Given the description of an element on the screen output the (x, y) to click on. 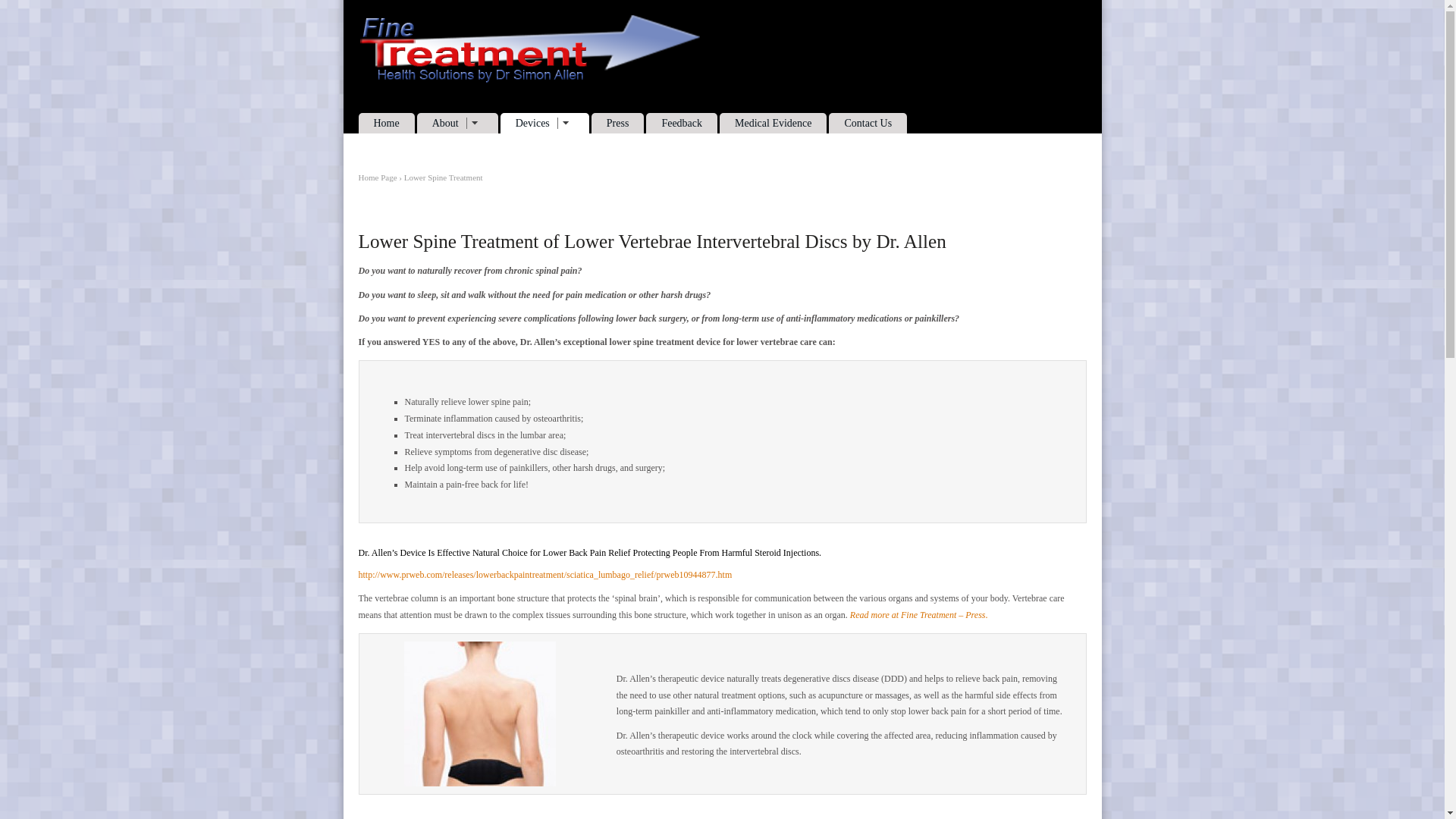
Press (618, 123)
Home (385, 123)
Contact Us (867, 123)
Lower Spine Treatment (443, 176)
Fine Treatment (528, 80)
Press (917, 614)
Home Page (377, 176)
lower-vertebrae2 (480, 713)
Feedback (681, 123)
Medical Evidence (773, 123)
